Given the description of an element on the screen output the (x, y) to click on. 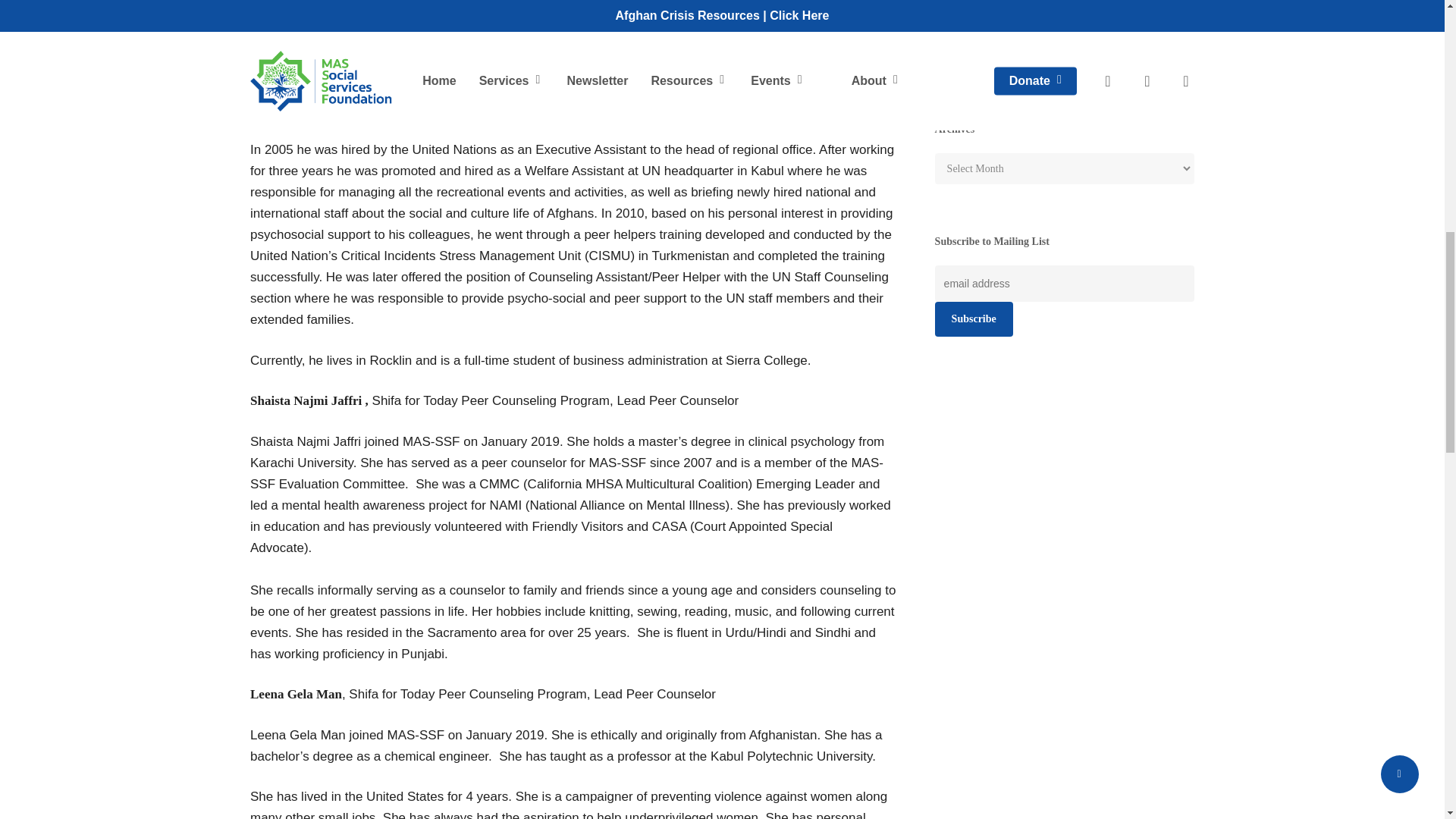
Subscribe (973, 319)
